Given the description of an element on the screen output the (x, y) to click on. 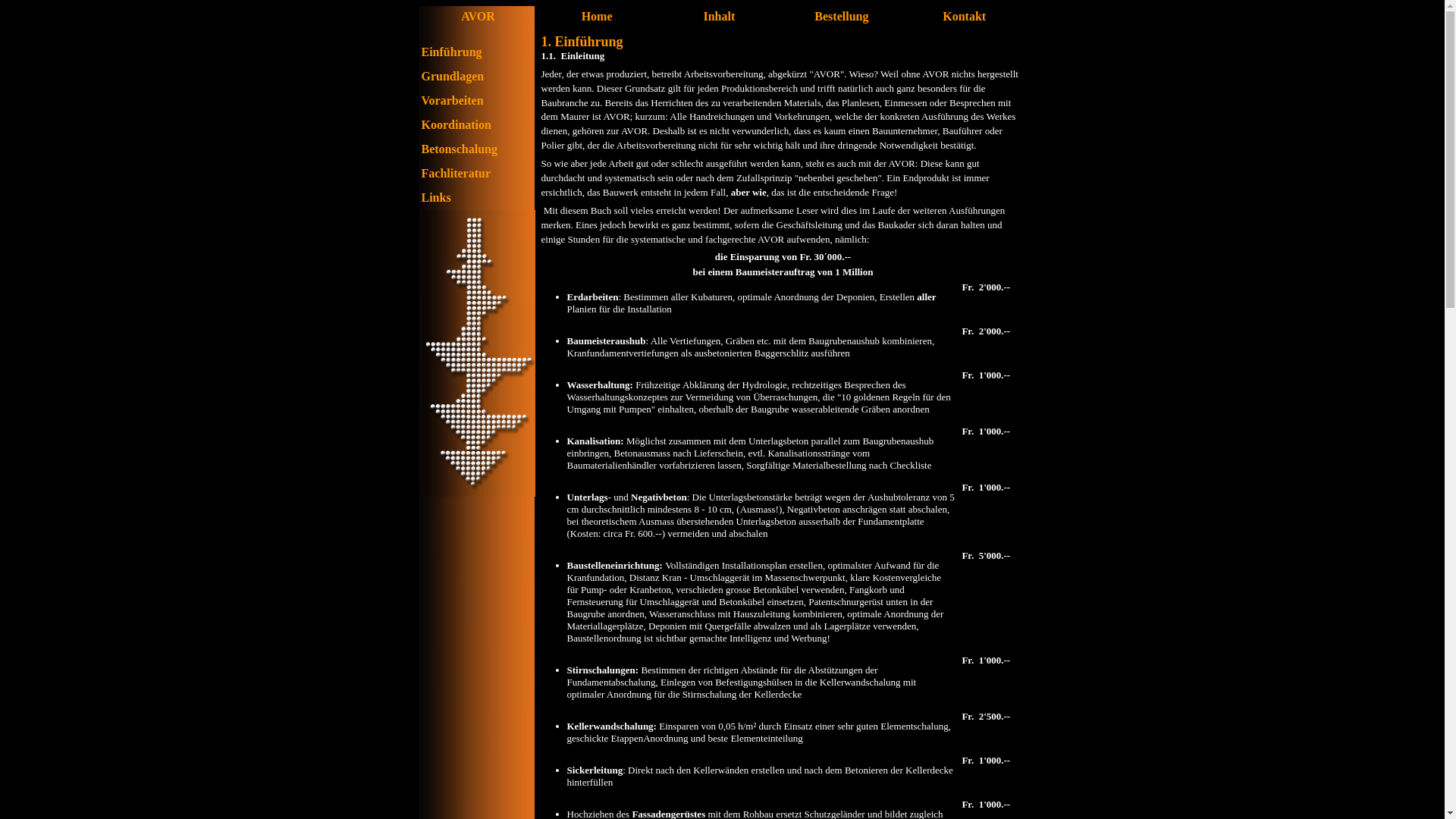
Grundlagen Element type: text (452, 75)
Fachliteratur Element type: text (456, 172)
Inhalt Element type: text (718, 15)
Bestellung Element type: text (841, 15)
Vorarbeiten Element type: text (452, 100)
Betonschalung Element type: text (459, 148)
Kontakt Element type: text (963, 15)
Links Element type: text (436, 197)
Koordination Element type: text (456, 124)
Home Element type: text (596, 15)
